Given the description of an element on the screen output the (x, y) to click on. 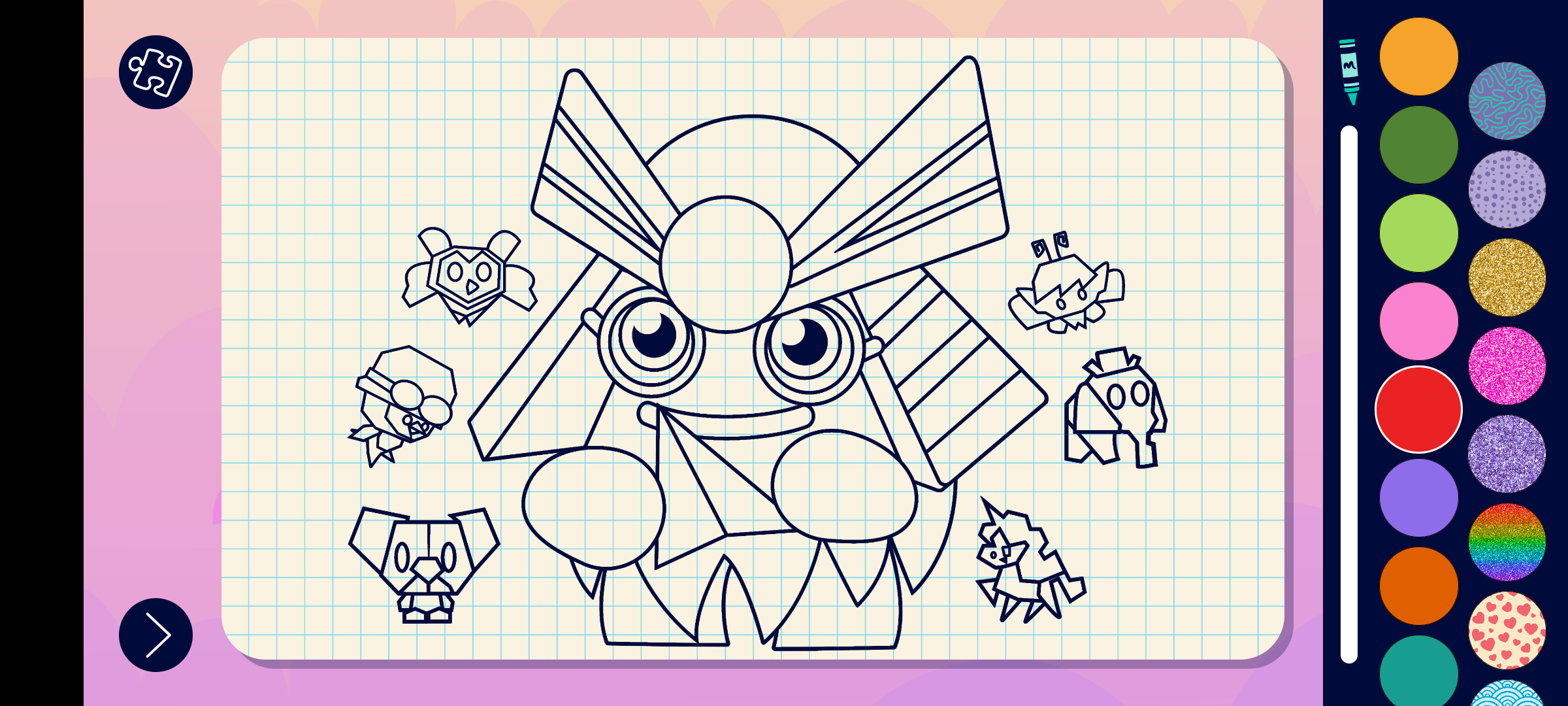
coloring background (1507, 101)
coloring background (1507, 189)
coloring background (1507, 277)
coloring background (1507, 365)
coloring background (1507, 454)
coloring background (1507, 542)
coloring background (1507, 630)
